Given the description of an element on the screen output the (x, y) to click on. 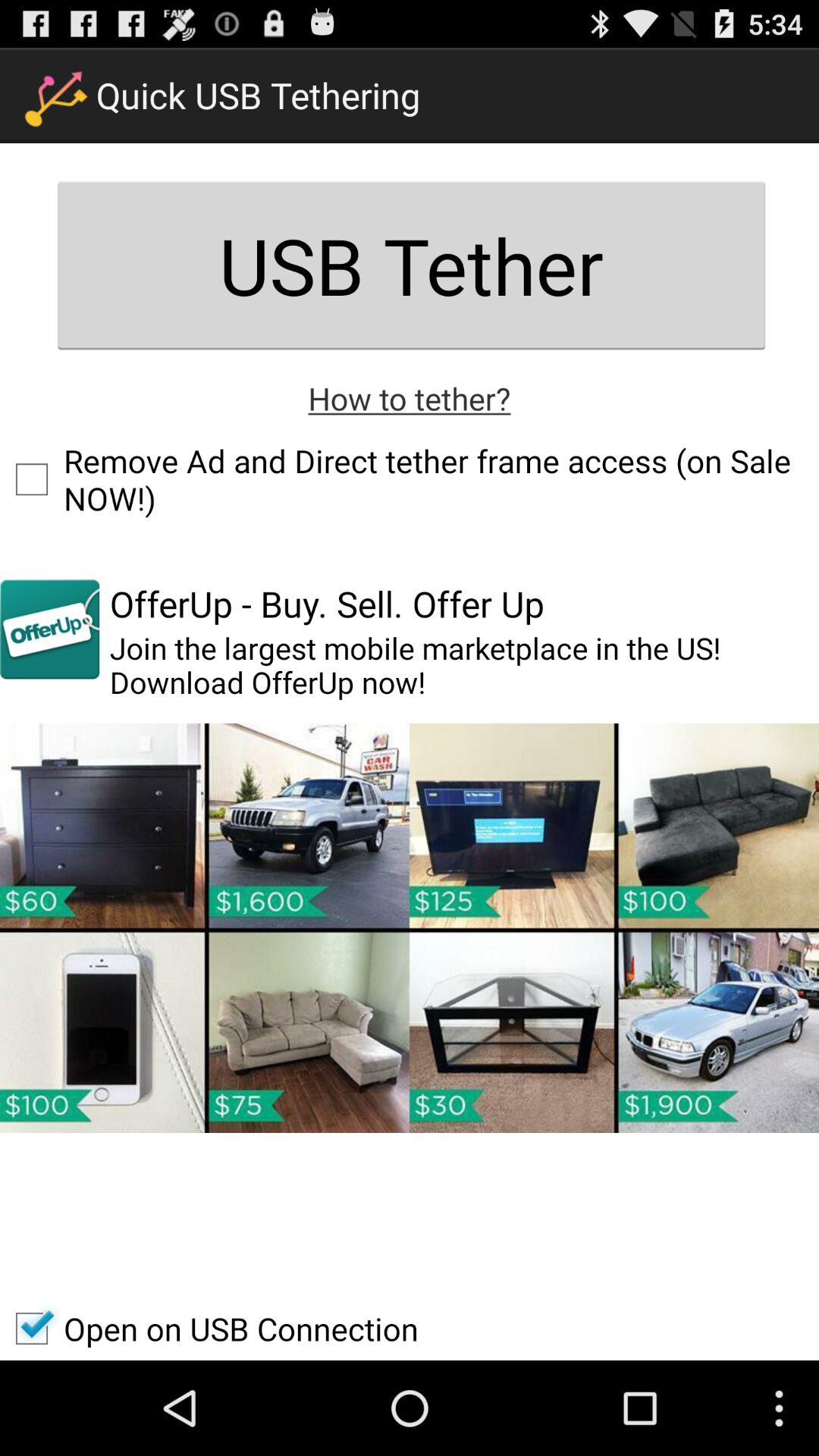
jump to the remove ad and (409, 479)
